Given the description of an element on the screen output the (x, y) to click on. 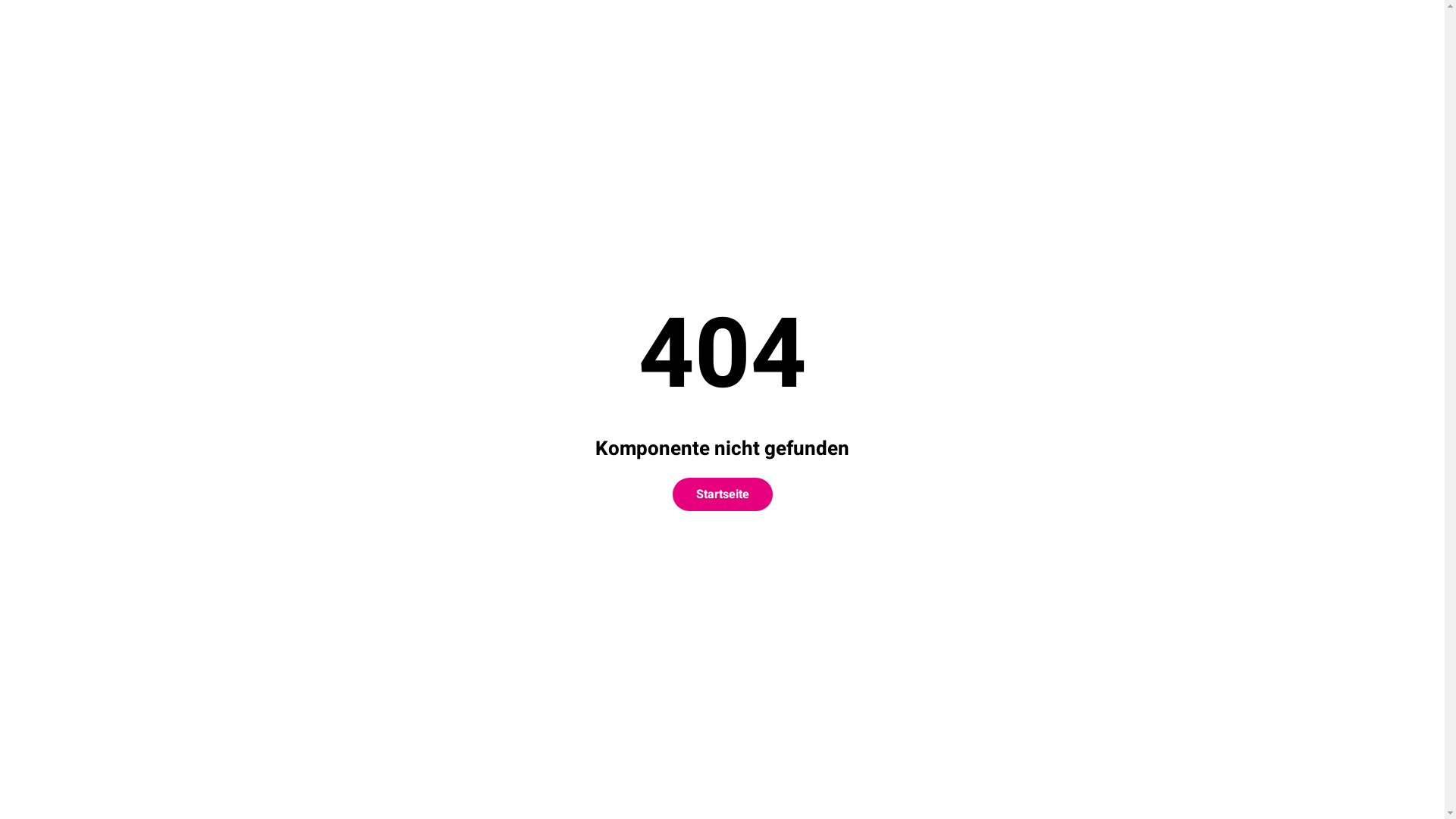
Startseite Element type: text (721, 494)
